Given the description of an element on the screen output the (x, y) to click on. 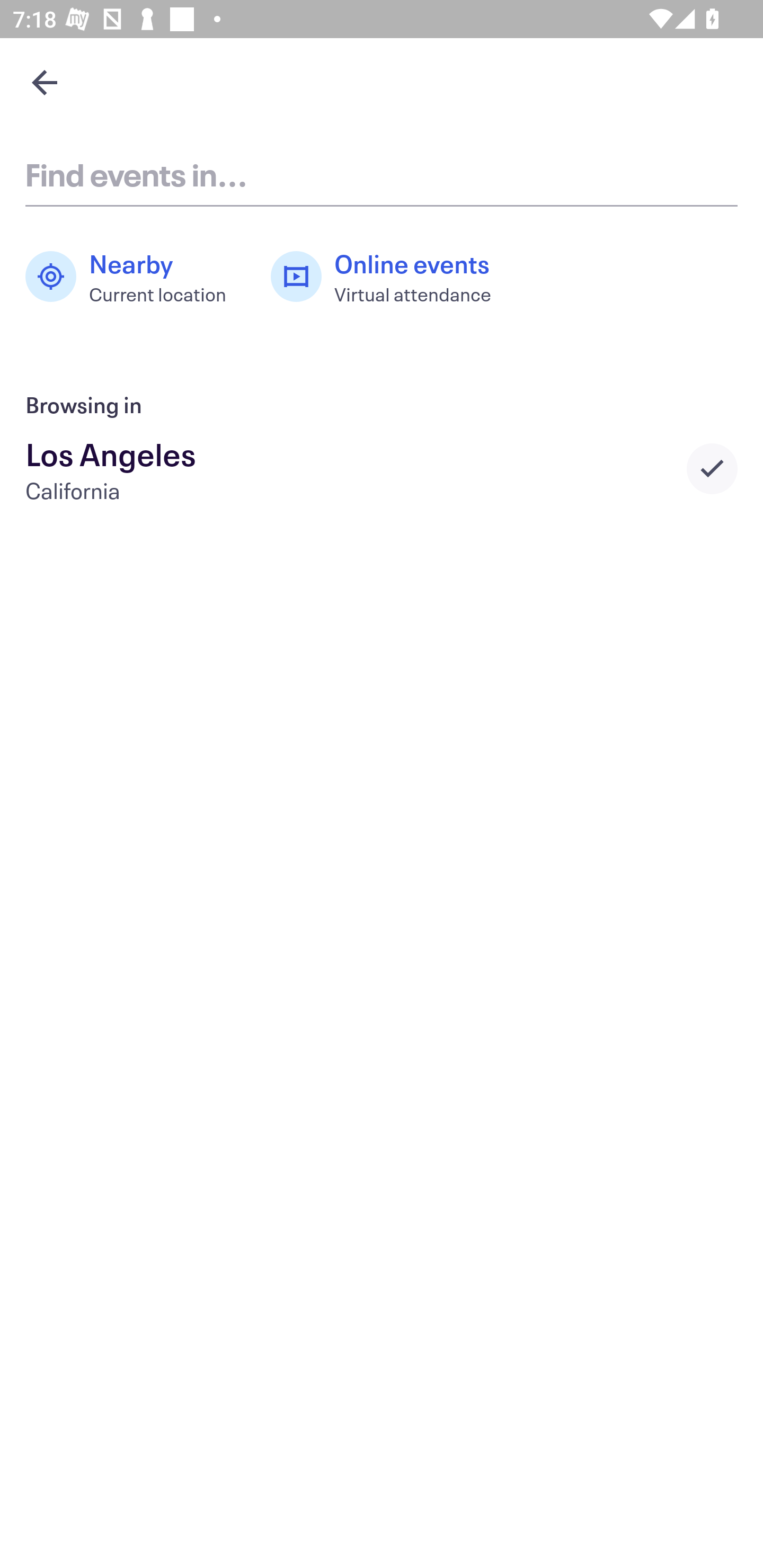
Navigate up (44, 82)
Find events in... (381, 173)
Nearby Current location (135, 276)
Online events Virtual attendance (390, 276)
Los Angeles California Selected city (381, 468)
